Given the description of an element on the screen output the (x, y) to click on. 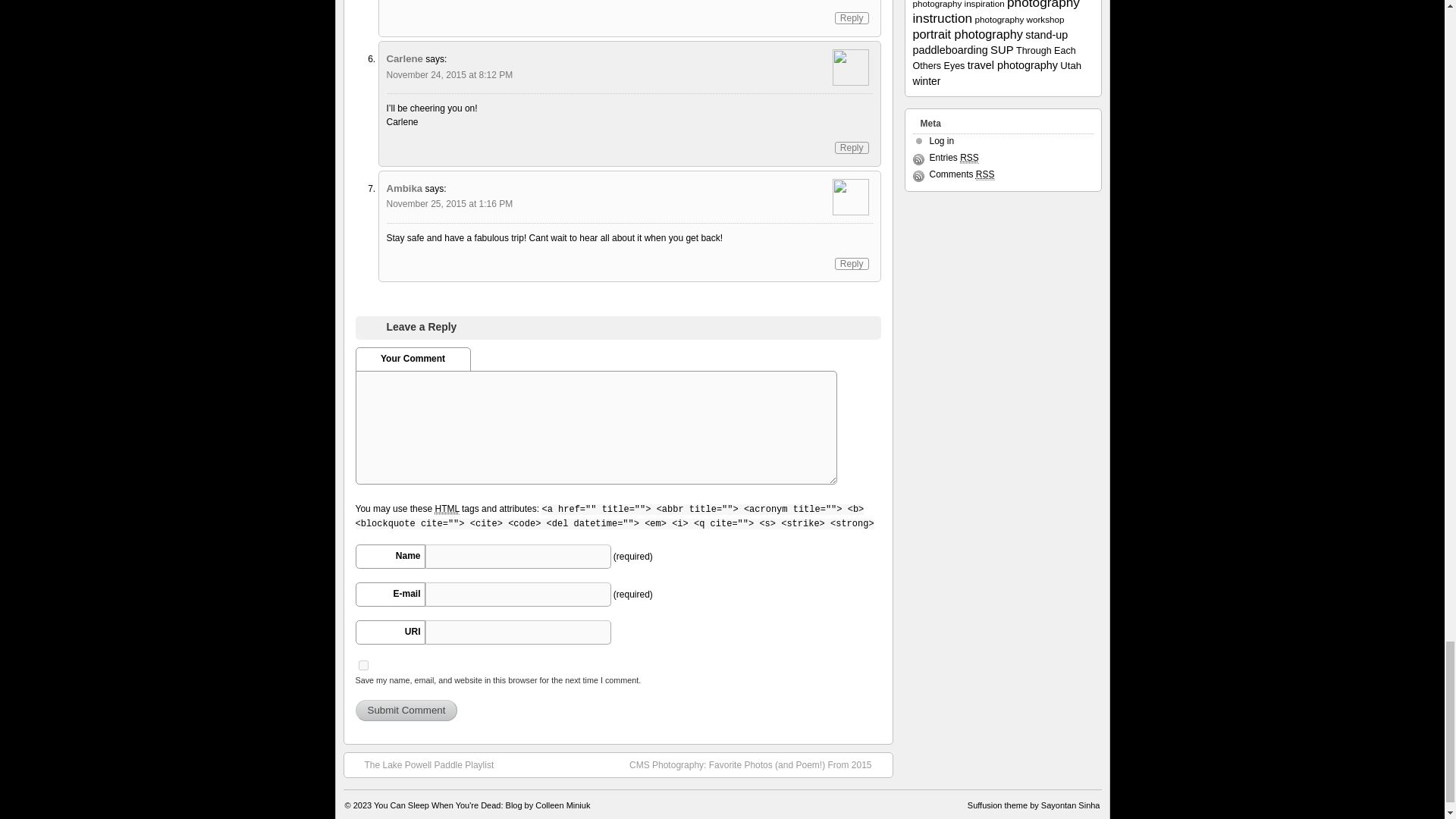
Really Simple Syndication (984, 174)
HyperText Markup Language (445, 509)
The latest comments to all posts in RSS (962, 174)
yes (363, 665)
Syndicate this site using RSS 2.0 (954, 157)
Submit Comment (406, 710)
Really Simple Syndication (968, 157)
